Given the description of an element on the screen output the (x, y) to click on. 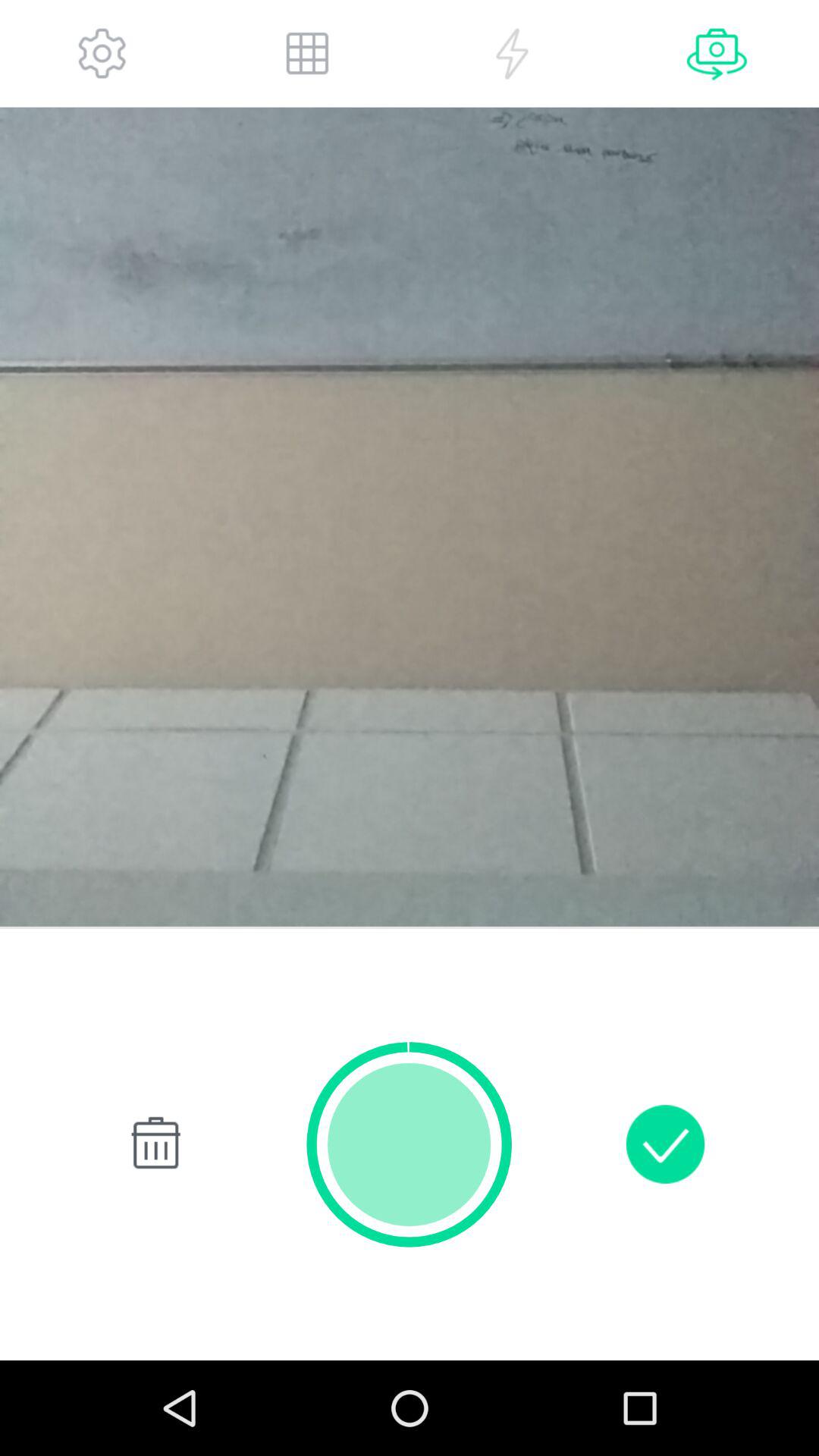
selfie mode (716, 53)
